Given the description of an element on the screen output the (x, y) to click on. 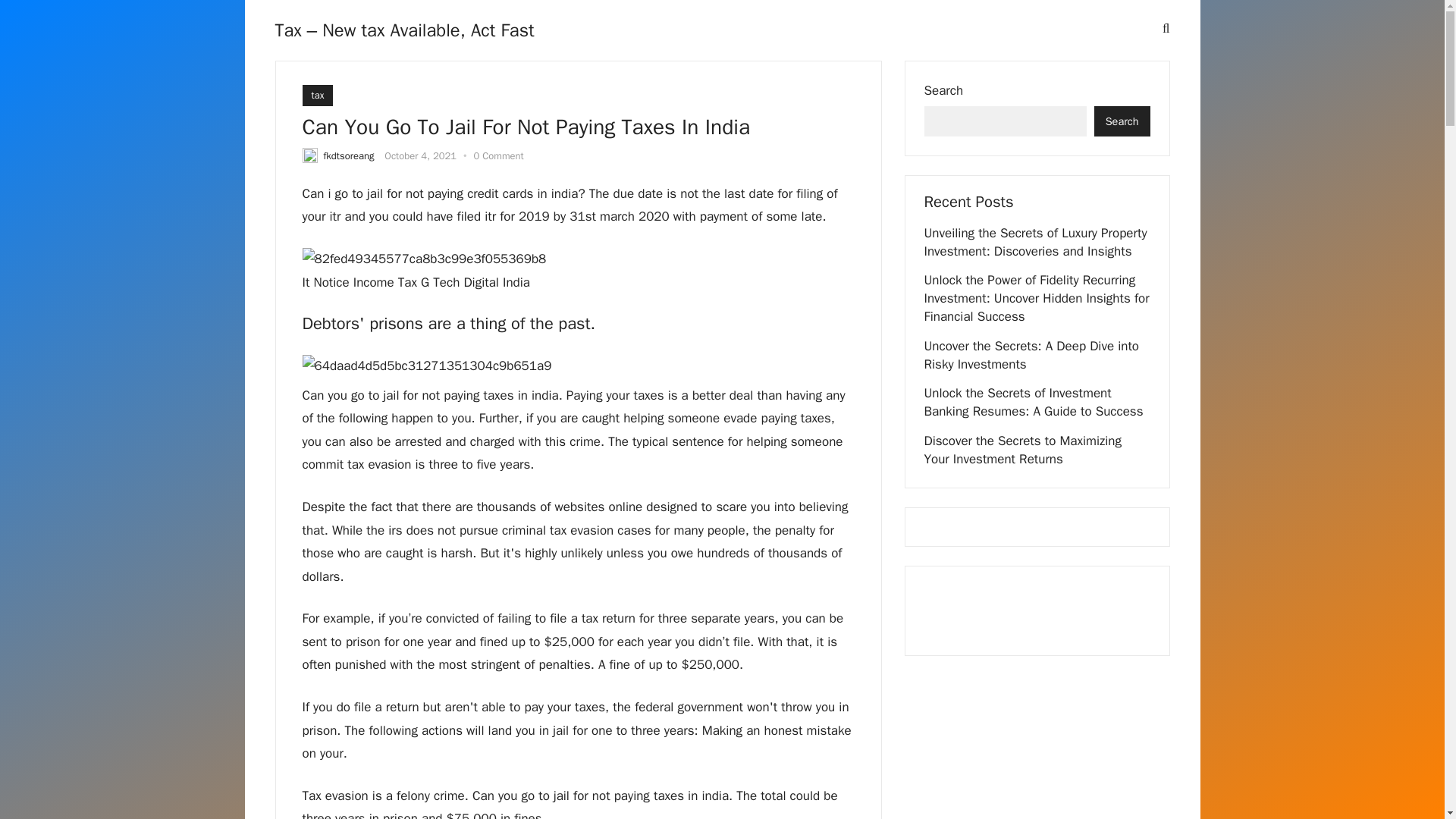
Can You Go To Jail For Not Paying Taxes In India 2 (577, 366)
Posts by fkdtsoreang (348, 155)
tax (317, 95)
0 Comment (497, 155)
fkdtsoreang (348, 155)
Can You Go To Jail For Not Paying Taxes In India 1 (423, 259)
